Given the description of an element on the screen output the (x, y) to click on. 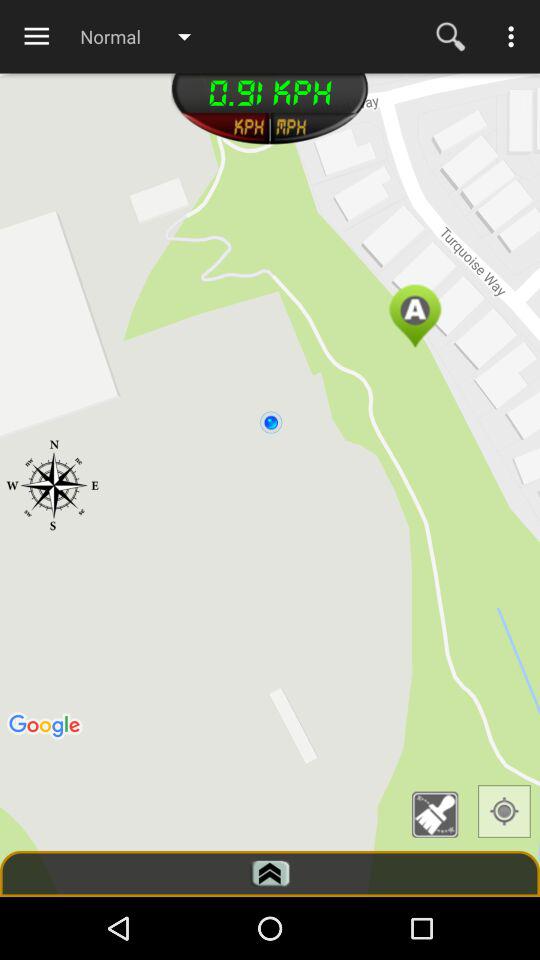
select kph (224, 128)
